Given the description of an element on the screen output the (x, y) to click on. 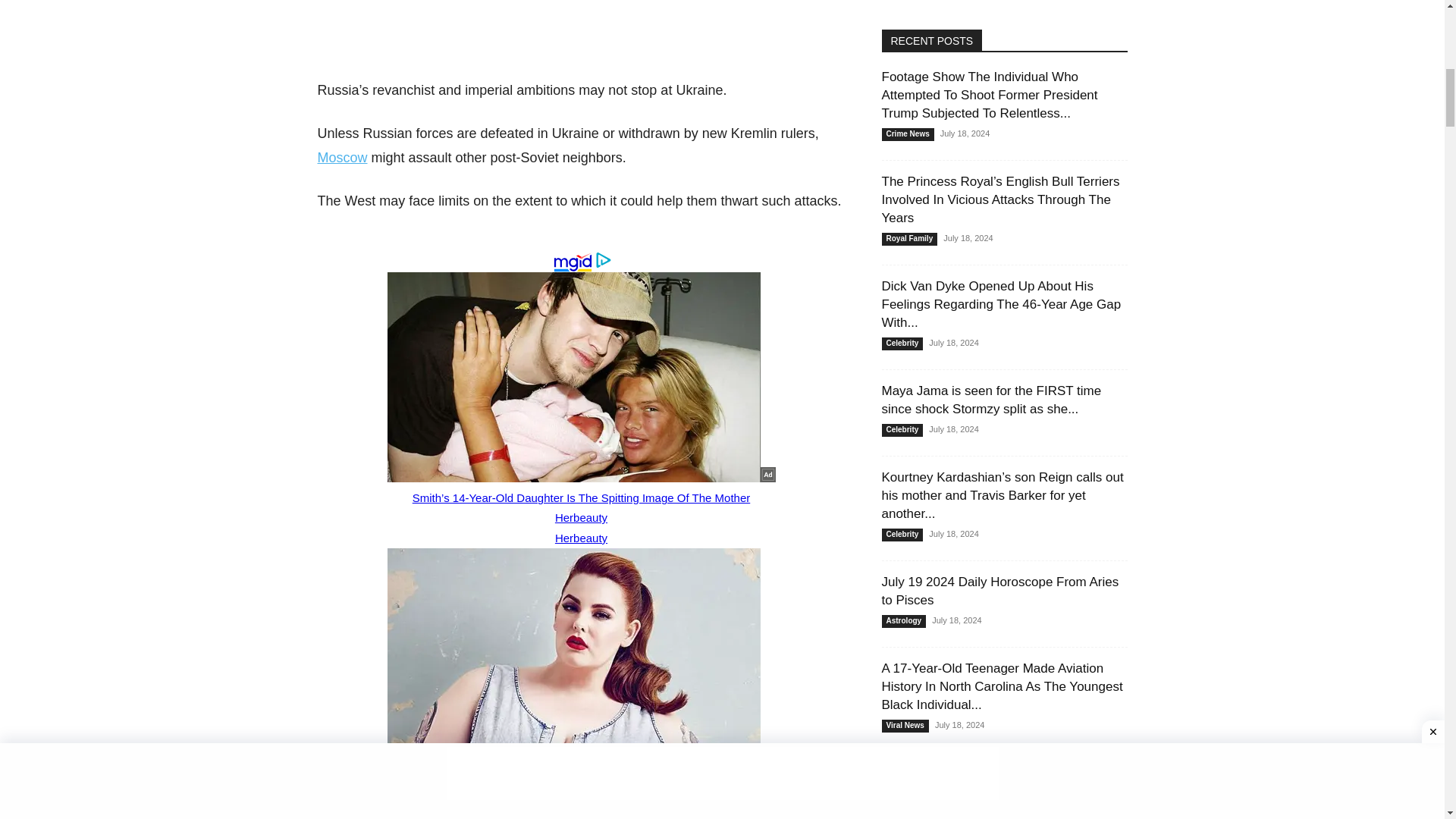
Advertisement (580, 36)
